Given the description of an element on the screen output the (x, y) to click on. 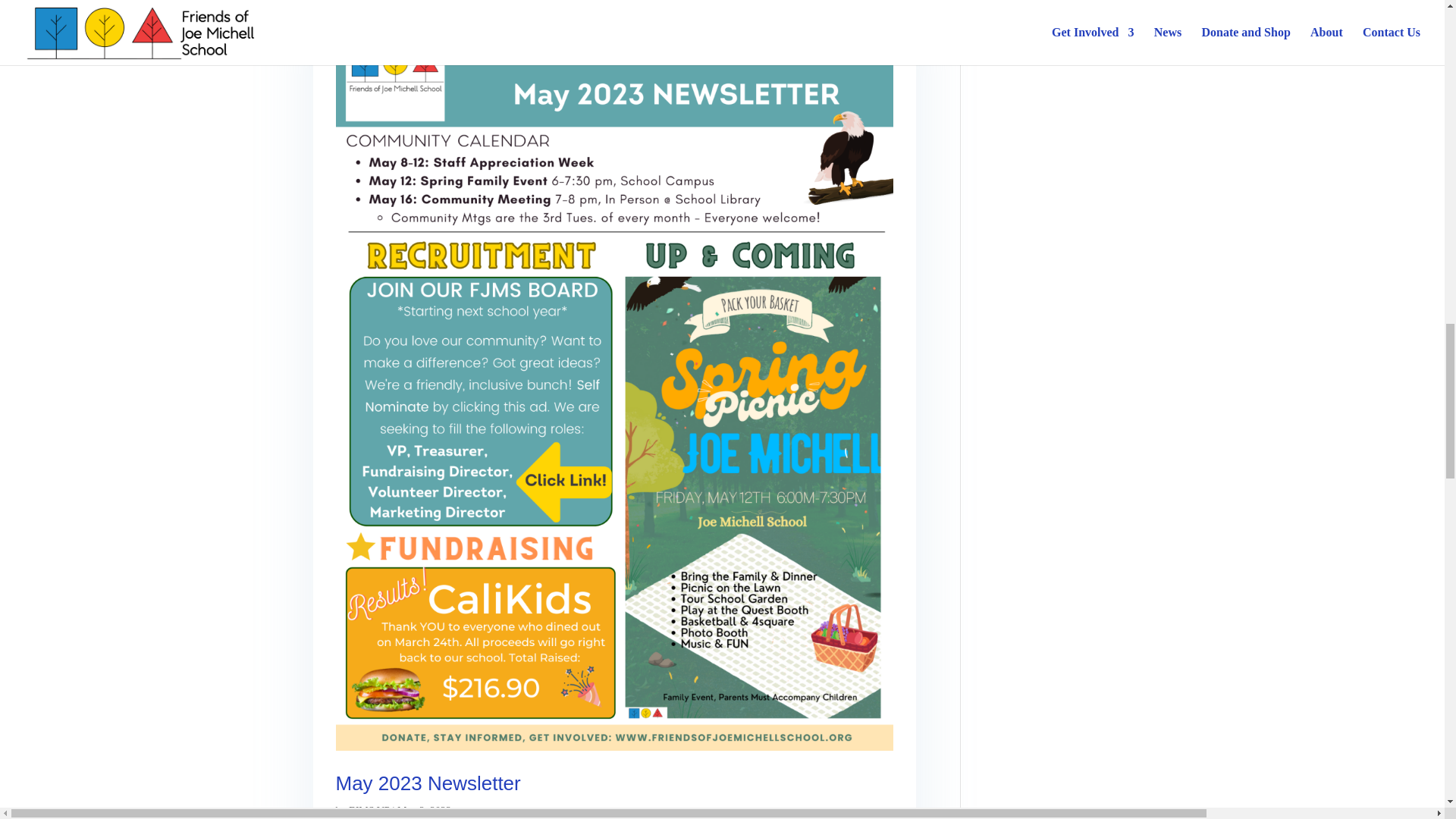
Posts by FJMS VP (369, 810)
May 2023 Newsletter (426, 783)
FJMS VP (369, 810)
